Given the description of an element on the screen output the (x, y) to click on. 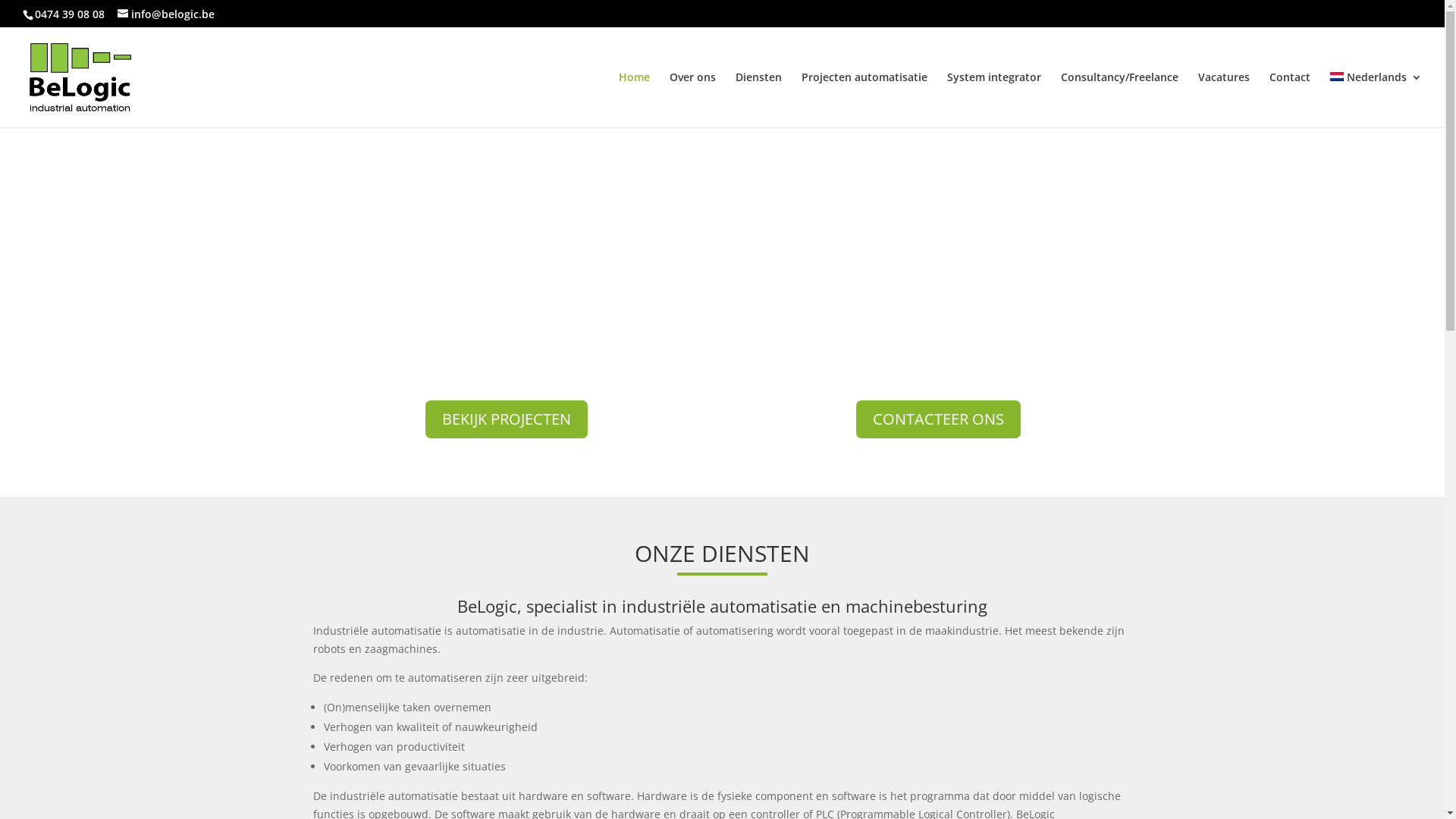
Home Element type: text (633, 99)
Nederlands Element type: text (1375, 99)
CONTACTEER ONS Element type: text (938, 419)
Contact Element type: text (1289, 99)
BEKIJK PROJECTEN Element type: text (506, 419)
Consultancy/Freelance Element type: text (1119, 99)
Over ons Element type: text (692, 99)
Diensten Element type: text (758, 99)
Projecten automatisatie Element type: text (864, 99)
Vacatures Element type: text (1223, 99)
System integrator Element type: text (994, 99)
info@belogic.be Element type: text (165, 13)
